Given the description of an element on the screen output the (x, y) to click on. 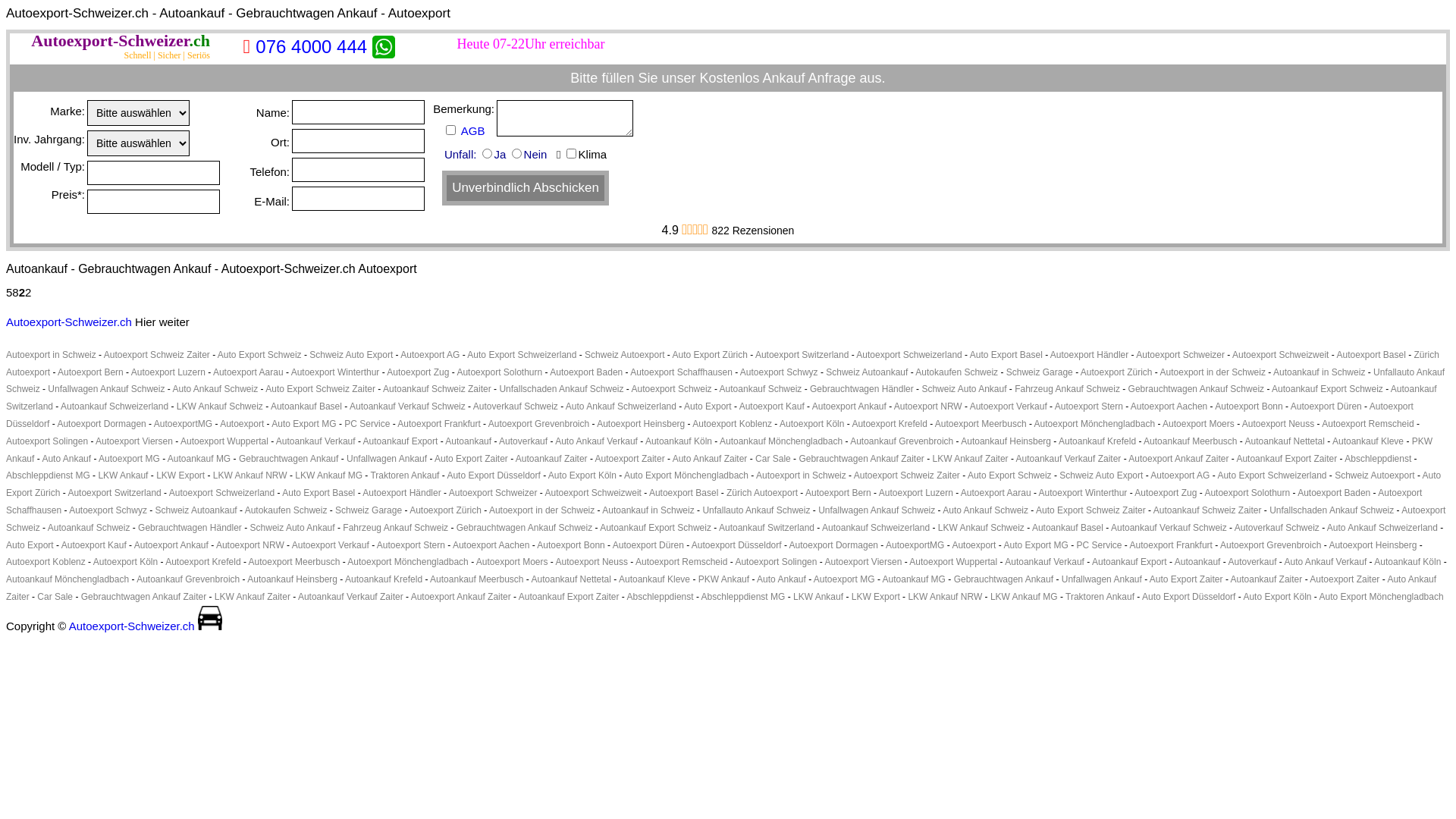
Autoexport Bern Element type: text (838, 492)
Autoankauf Schweiz Element type: text (88, 527)
Autoexport Kauf Element type: text (93, 544)
Autoexport Aarau Element type: text (248, 372)
Autoverkauf Element type: text (522, 441)
Autoankauf Verkauf Zaiter Element type: text (1068, 458)
Unfallwagen Ankauf Schweiz Element type: text (876, 510)
Autoexport Winterthur Element type: text (335, 372)
LKW Ankauf MG Element type: text (328, 475)
Auto Ankauf Zaiter Element type: text (709, 458)
Autoexport-Schweizer.ch Element type: text (120, 40)
Autoexport AG Element type: text (429, 354)
Autoexport Element type: text (241, 423)
Autoankauf Heinsberg Element type: text (292, 579)
Autoankauf Kleve Element type: text (1367, 441)
Autoankauf Verkauf Schweiz Element type: text (1168, 527)
Autoexport Meerbusch Element type: text (294, 561)
Auto Ankauf Element type: text (781, 579)
Autoexport NRW Element type: text (250, 544)
Unfallschaden Ankauf Schweiz Element type: text (560, 388)
Autoexport Zug Element type: text (1165, 492)
Autoankauf Element type: text (1197, 561)
Traktoren Ankauf Element type: text (1099, 596)
Autoankauf MG Element type: text (198, 458)
Autoexport Baden Element type: text (585, 372)
Autoexport Krefeld Element type: text (202, 561)
Gebrauchtwagen Ankauf Element type: text (288, 458)
Autoankauf Verkauf Element type: text (1044, 561)
Fahrzeug Ankauf Schweiz Element type: text (395, 527)
Auto Ankauf Schweiz Element type: text (985, 510)
Autoankauf Export Schweiz Element type: text (655, 527)
Autoexport Grevenbroich Element type: text (1270, 544)
Auto Export Element type: text (707, 406)
Unfallauto Ankauf Schweiz Element type: text (725, 381)
Autoexport Wuppertal Element type: text (953, 561)
Schweiz Autoankauf Element type: text (196, 510)
Auto Export Schweiz Zaiter Element type: text (320, 388)
LKW Ankauf Schweiz Element type: text (219, 406)
Autoexport Verkauf Element type: text (330, 544)
Autoankauf Zaiter Element type: text (551, 458)
Autoexport Solothurn Element type: text (499, 372)
Autoexport Schaffhausen Element type: text (713, 501)
Autoexport Schweiz Zaiter Element type: text (156, 354)
Autoankauf Nettetal Element type: text (571, 579)
Autoankauf Schweizerland Element type: text (114, 406)
Autoexport Schweiz Zaiter Element type: text (906, 475)
Gebrauchtwagen Ankauf Schweiz Element type: text (524, 527)
Auto Ankauf Zaiter Element type: text (721, 588)
Auto Export MG Element type: text (1035, 544)
Autoexport Schweizer Element type: text (492, 492)
Autoankauf Krefeld Element type: text (1096, 441)
Autoexport Zaiter Element type: text (630, 458)
Autoexport Moers Element type: text (1198, 423)
Autoexport Heinsberg Element type: text (640, 423)
Autoexport Frankfurt Element type: text (1170, 544)
Auto Ankauf Schweizerland Element type: text (620, 406)
Fahrzeug Ankauf Schweiz Element type: text (1067, 388)
076 4000 444 Element type: text (311, 46)
Autoexport Zaiter Element type: text (1344, 579)
Car Sale Element type: text (772, 458)
Schweiz Autoankauf Element type: text (866, 372)
AutoexportMG Element type: text (182, 423)
Autoexport Moers Element type: text (512, 561)
Autoexport Remscheid Element type: text (1367, 423)
Autoexport Bern Element type: text (90, 372)
Autoexport Bonn Element type: text (570, 544)
Auto Ankauf Schweiz Element type: text (214, 388)
Autoexport Grevenbroich Element type: text (538, 423)
Autoexport Luzern Element type: text (168, 372)
Autoexport Solingen Element type: text (775, 561)
Auto Export Zaiter Element type: text (1186, 579)
Autoexport Koblenz Element type: text (45, 561)
Autoankauf Schweiz Zaiter Element type: text (436, 388)
Autoverkauf Schweiz Element type: text (515, 406)
Unverbindlich Abschicken Element type: text (525, 187)
Autoankauf Element type: text (468, 441)
LKW Export Element type: text (180, 475)
Autoexport Kauf Element type: text (771, 406)
Auto Export Basel Element type: text (318, 492)
Autoankauf Kleve Element type: text (654, 579)
Abschleppdienst Element type: text (1377, 458)
Auto Ankauf Element type: text (66, 458)
Autokaufen Schweiz Element type: text (956, 372)
Autoankauf Verkauf Element type: text (315, 441)
Unfallauto Ankauf Schweiz Element type: text (755, 510)
Autoexport Schweizerland Element type: text (908, 354)
Schweiz Auto Ankauf Element type: text (292, 527)
Autoexport Neuss Element type: text (591, 561)
Schweiz Autoexport Element type: text (1374, 475)
Auto Export Schweiz Element type: text (1009, 475)
Auto Ankauf Verkauf Element type: text (596, 441)
Autoexport Aarau Element type: text (995, 492)
Autoexport Winterthur Element type: text (1082, 492)
LKW Ankauf MG Element type: text (1023, 596)
Autoexport Aachen Element type: text (490, 544)
Autoexport Solothurn Element type: text (1246, 492)
Autoexport Frankfurt Element type: text (438, 423)
Autoankauf MG Element type: text (913, 579)
Autoankauf Switzerland Element type: text (766, 527)
Autoexport-Schweizer.ch Element type: text (131, 625)
Autoexport in Schweiz Element type: text (801, 475)
Autoexport Ankauf Element type: text (171, 544)
Auto Export MG Element type: text (303, 423)
Autoankauf Verkauf Zaiter Element type: text (350, 596)
Autoexport Schweizerland Element type: text (221, 492)
Autoexport Switzerland Element type: text (801, 354)
Autoexport AG Element type: text (1179, 475)
Auto Ankauf Verkauf Element type: text (1325, 561)
LKW Ankauf NRW Element type: text (944, 596)
Autoankauf Switzerland Element type: text (721, 397)
Auto Export Schweizerland Element type: text (521, 354)
Schweiz Autoexport Element type: text (624, 354)
Unfallwagen Ankauf Element type: text (1101, 579)
Autoexport Wuppertal Element type: text (224, 441)
Autoexport Schaffhausen Element type: text (681, 372)
Traktoren Ankauf Element type: text (404, 475)
Autoexport in der Schweiz Element type: text (541, 510)
Unfallwagen Ankauf Element type: text (386, 458)
Autoexport Meerbusch Element type: text (980, 423)
Autokaufen Schweiz Element type: text (285, 510)
Autoexport Viersen Element type: text (862, 561)
PKW Ankauf Element type: text (719, 450)
Autoexport MG Element type: text (129, 458)
Autoexport Verkauf Element type: text (1008, 406)
Schweiz Auto Export Element type: text (1100, 475)
PC Service Element type: text (1099, 544)
LKW Ankauf Schweiz Element type: text (981, 527)
Abschleppdienst Element type: text (660, 596)
LKW Ankauf Element type: text (122, 475)
Autoexport Dormagen Element type: text (100, 423)
Autoexport Ankauf Zaiter Element type: text (1178, 458)
Autoexport Heinsberg Element type: text (1372, 544)
Auto Export Element type: text (29, 544)
Autoexport Neuss Element type: text (1278, 423)
Autoverkauf Schweiz Element type: text (1276, 527)
Gebrauchtwagen Ankauf Zaiter Element type: text (143, 596)
LKW Ankauf Zaiter Element type: text (970, 458)
Autoexport Schweizer Element type: hover (209, 617)
Autoexport Zug Element type: text (417, 372)
Autoankauf Nettetal Element type: text (1284, 441)
Autoankauf Verkauf Schweiz Element type: text (407, 406)
Autoexport Basel Element type: text (1370, 354)
Auto Ankauf Schweizerland Element type: text (1382, 527)
Autoexport Schweizweit Element type: text (592, 492)
Autoexport NRW Element type: text (928, 406)
Autoankauf Schweiz Element type: text (760, 388)
Schweiz Garage Element type: text (368, 510)
Autoexport Stern Element type: text (410, 544)
Schweiz Garage Element type: text (1039, 372)
Unfallschaden Ankauf Schweiz Element type: text (1331, 510)
Auto Export Zaiter Element type: text (471, 458)
Autoankauf Krefeld Element type: text (383, 579)
Autoankauf Export Zaiter Element type: text (1286, 458)
Autoexport Schweiz Element type: text (671, 388)
PKW Ankauf Element type: text (723, 579)
Autoverkauf Element type: text (1251, 561)
Autoexport Remscheid Element type: text (681, 561)
Autoexport Dormagen Element type: text (833, 544)
Autoankauf Export Zaiter Element type: text (568, 596)
AGB    Element type: text (476, 130)
Autoexport Bonn Element type: text (1248, 406)
Autoankauf in Schweiz Element type: text (647, 510)
Autoexport Basel Element type: text (683, 492)
Gebrauchtwagen Ankauf Zaiter Element type: text (860, 458)
Autoexport Stern Element type: text (1088, 406)
Autoexport Baden Element type: text (1333, 492)
Autoexport Luzern Element type: text (915, 492)
Autoankauf Grevenbroich Element type: text (901, 441)
Autoexport MG Element type: text (844, 579)
Autoexport Schwyz Element type: text (108, 510)
Abschleppdienst MG Element type: text (48, 475)
Autoexport Schweiz Element type: text (725, 519)
Autoexport Schweizer Element type: text (1179, 354)
Autoankauf Meerbusch Element type: text (1189, 441)
Autoexport in der Schweiz Element type: text (1212, 372)
Autoankauf Export Schweiz Element type: text (1327, 388)
Schweiz Auto Export Element type: text (350, 354)
Autoankauf Schweizerland Element type: text (875, 527)
Autoankauf Zaiter Element type: text (1266, 579)
Autoankauf Meerbusch Element type: text (476, 579)
Schweiz Auto Ankauf Element type: text (963, 388)
Autoexport Solingen Element type: text (46, 441)
Autoankauf in Schweiz Element type: text (1319, 372)
Autoankauf Export Element type: text (1129, 561)
Auto Export Basel Element type: text (1005, 354)
Autoexport Switzerland Element type: text (113, 492)
LKW Export Element type: text (875, 596)
AutoexportMG Element type: text (914, 544)
Unfallwagen Ankauf Schweiz Element type: text (105, 388)
LKW Ankauf Element type: text (818, 596)
Autoankauf Schweiz Zaiter Element type: text (1207, 510)
Autoexport Ankauf Zaiter Element type: text (461, 596)
PC Service Element type: text (366, 423)
Autoankauf Heinsberg Element type: text (1005, 441)
Autoankauf Basel Element type: text (1067, 527)
Gebrauchtwagen Ankauf Element type: text (1003, 579)
Abschleppdienst MG Element type: text (743, 596)
Autoexport Aachen Element type: text (1168, 406)
Auto Export Schweiz Element type: text (259, 354)
Car Sale Element type: text (54, 596)
Autoexport-Schweizer.ch Element type: text (68, 321)
Gebrauchtwagen Ankauf Schweiz Element type: text (1196, 388)
Autoexport Element type: text (973, 544)
Autoexport Schweizweit Element type: text (1280, 354)
Autoexport Schwyz Element type: text (779, 372)
Autoankauf Export Element type: text (400, 441)
Autoexport in Schweiz Element type: text (51, 354)
Autoexport Viersen Element type: text (133, 441)
Autoankauf Grevenbroich Element type: text (187, 579)
Autoexport Koblenz Element type: text (731, 423)
Autoankauf Basel Element type: text (306, 406)
Autoexport Ankauf Element type: text (849, 406)
Auto Export Schweiz Zaiter Element type: text (1090, 510)
Autoexport Krefeld Element type: text (888, 423)
LKW Ankauf Zaiter Element type: text (252, 596)
Auto Export Schweizerland Element type: text (1271, 475)
LKW Ankauf NRW Element type: text (250, 475)
